Given the description of an element on the screen output the (x, y) to click on. 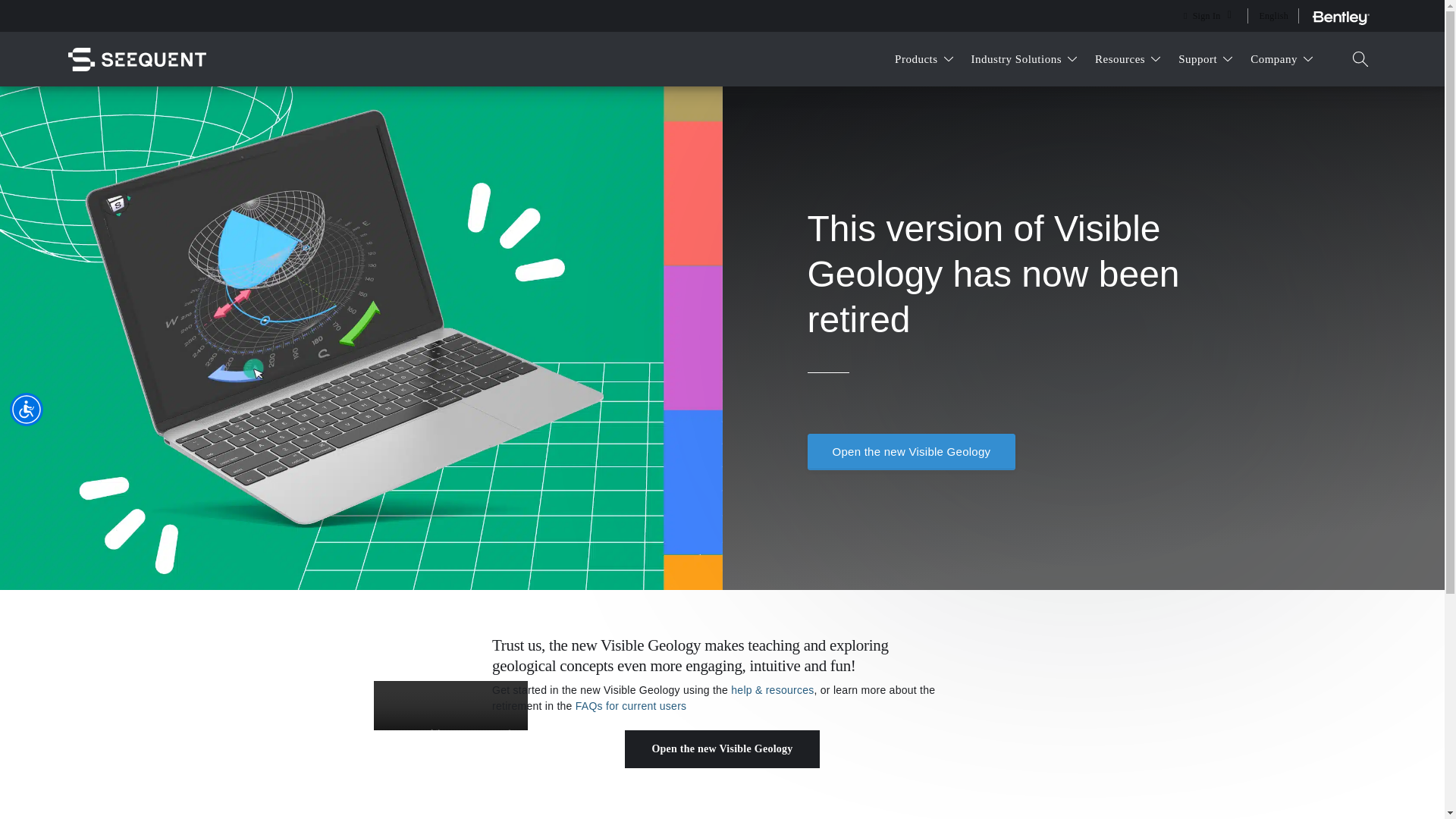
English (1276, 15)
Accessibility Menu (26, 409)
English (1276, 15)
Sign In (1207, 15)
Products (924, 58)
